Given the description of an element on the screen output the (x, y) to click on. 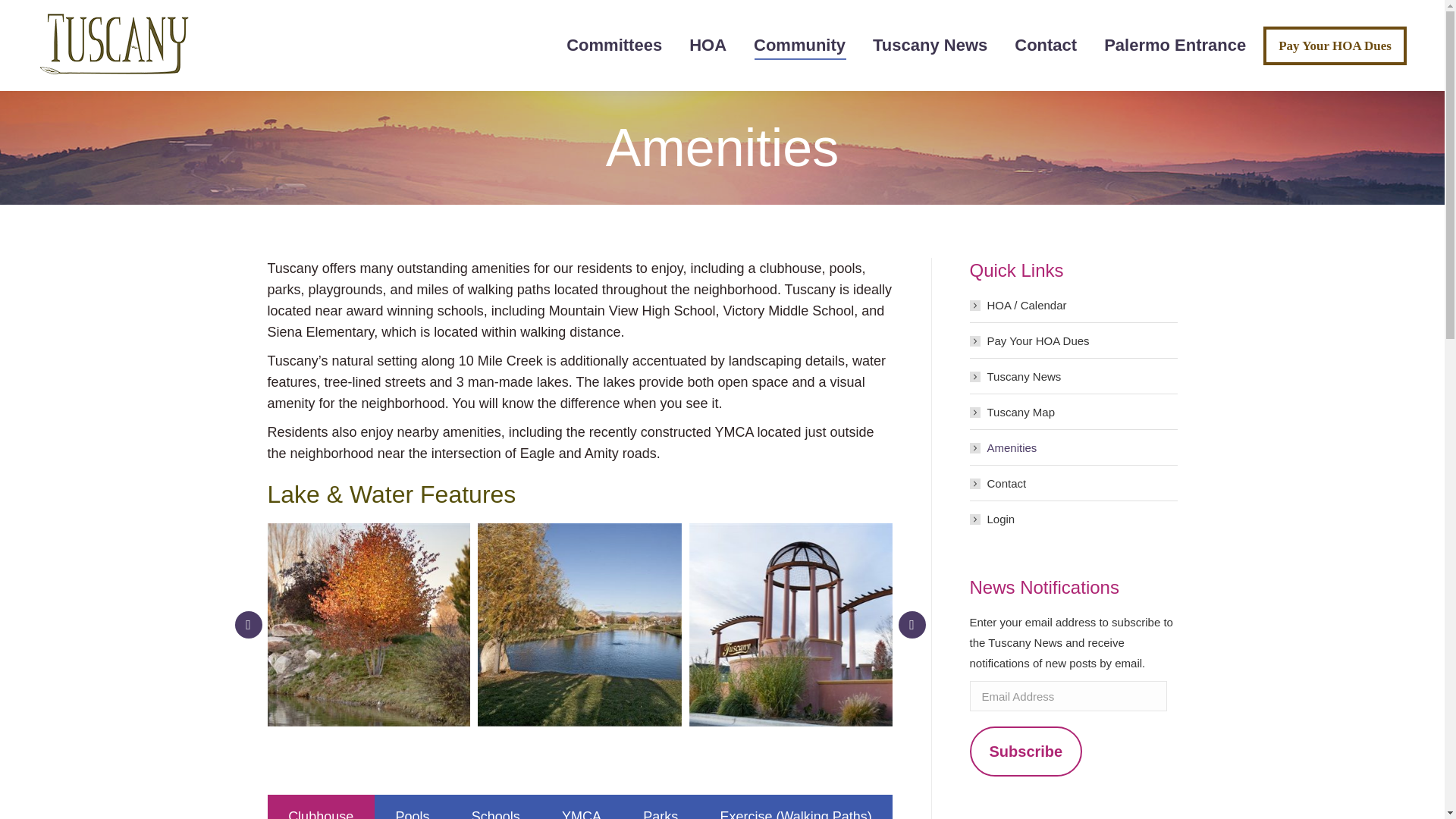
Tuscany News (929, 44)
Community (799, 44)
HOA (707, 44)
Palermo Entrance (1174, 44)
Contact (1045, 44)
Pay Your HOA Dues (1334, 44)
Committees (614, 44)
